Given the description of an element on the screen output the (x, y) to click on. 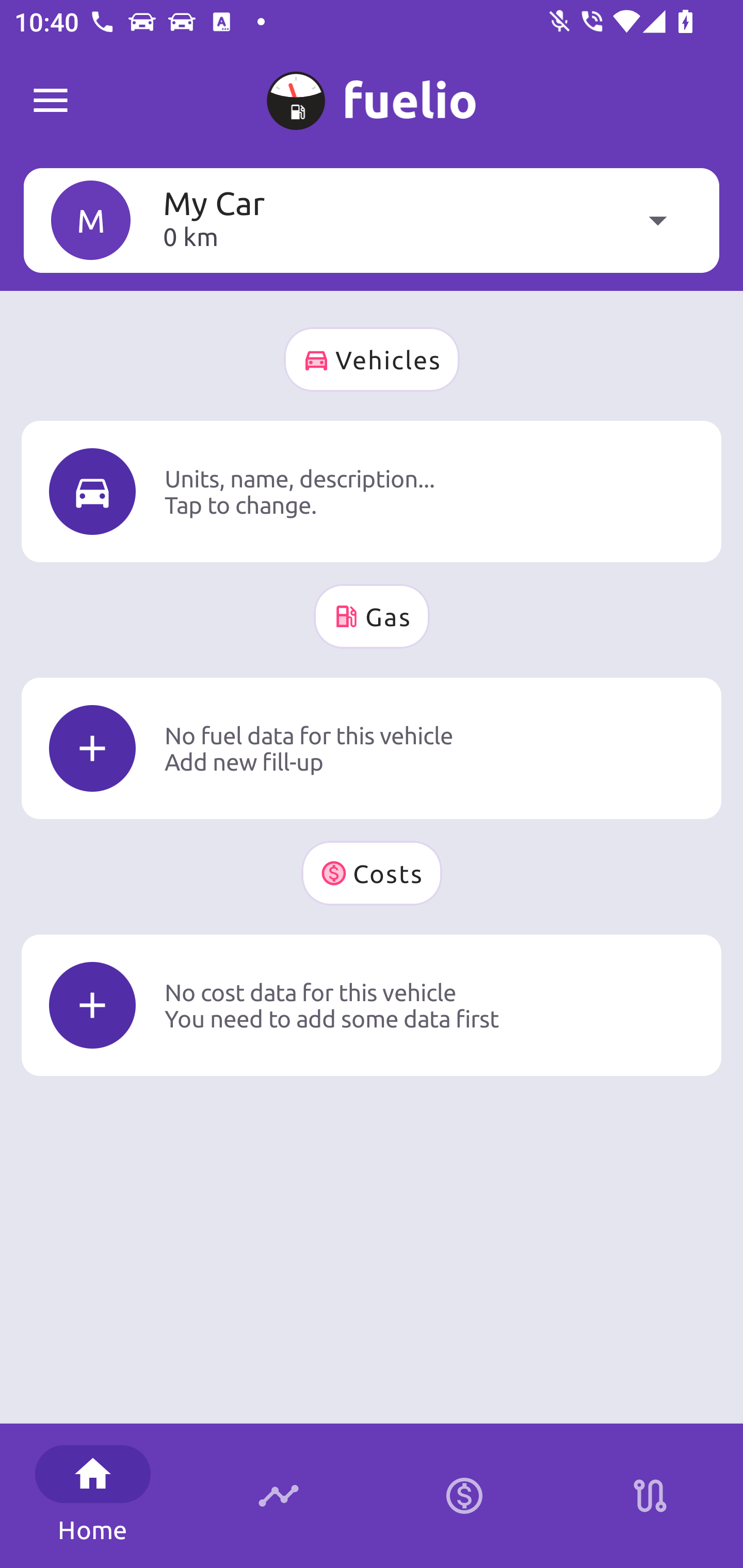
Fuelio (50, 101)
M My Car 0 km (371, 219)
Vehicles (371, 359)
Icon Units, name, description...
Tap to change. (371, 491)
Icon (92, 491)
Gas (371, 616)
Icon No fuel data for this vehicle
Add new fill-up (371, 747)
Icon (92, 748)
Costs (371, 873)
Icon (92, 1004)
Timeline (278, 1495)
Calculator (464, 1495)
Stations on route (650, 1495)
